Given the description of an element on the screen output the (x, y) to click on. 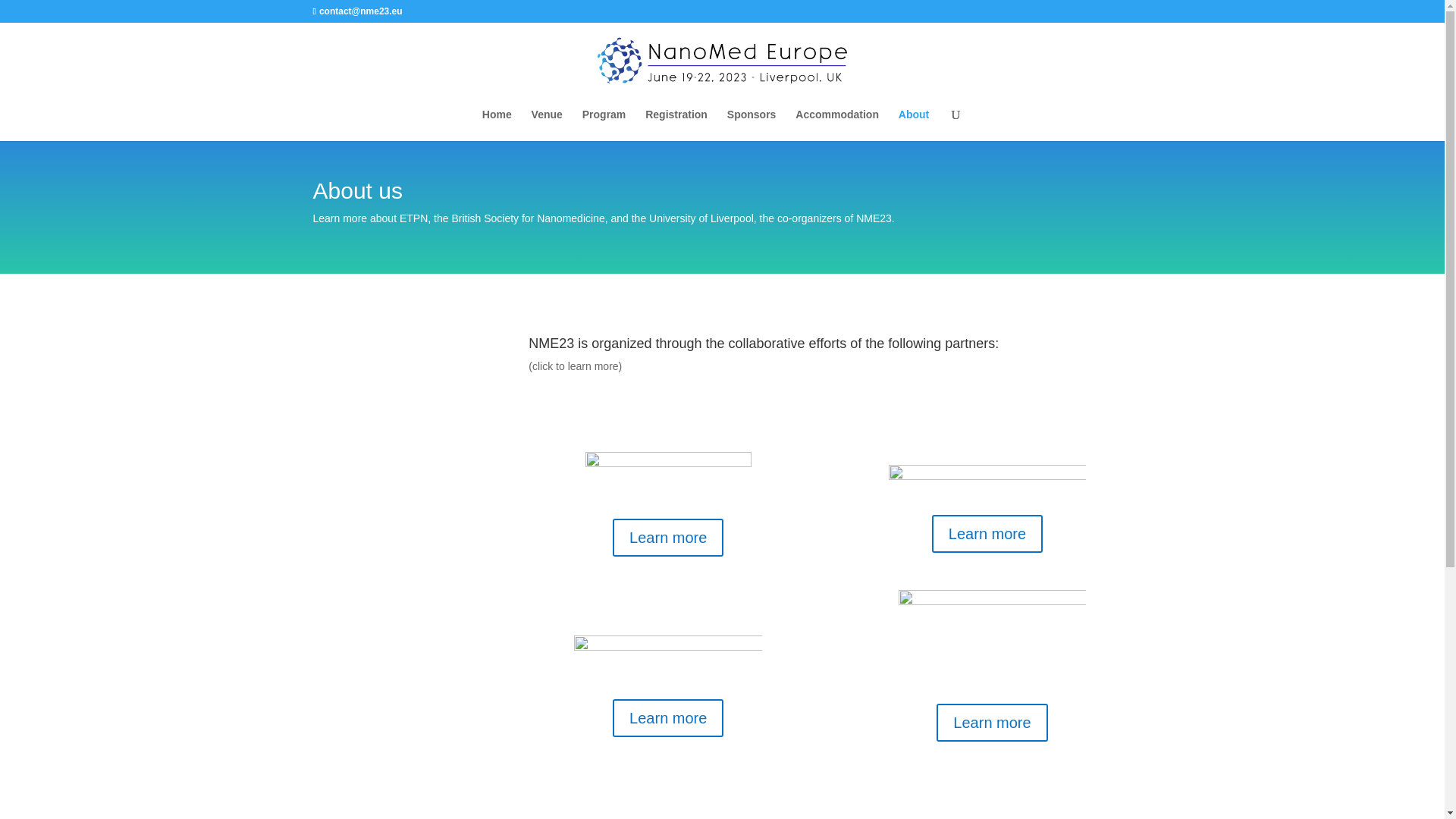
Home (496, 124)
Learn more (986, 533)
About (913, 124)
Learn more (991, 722)
Venue (546, 124)
Program (604, 124)
Registration (676, 124)
Sponsors (751, 124)
Accommodation (836, 124)
Learn more (667, 718)
